Given the description of an element on the screen output the (x, y) to click on. 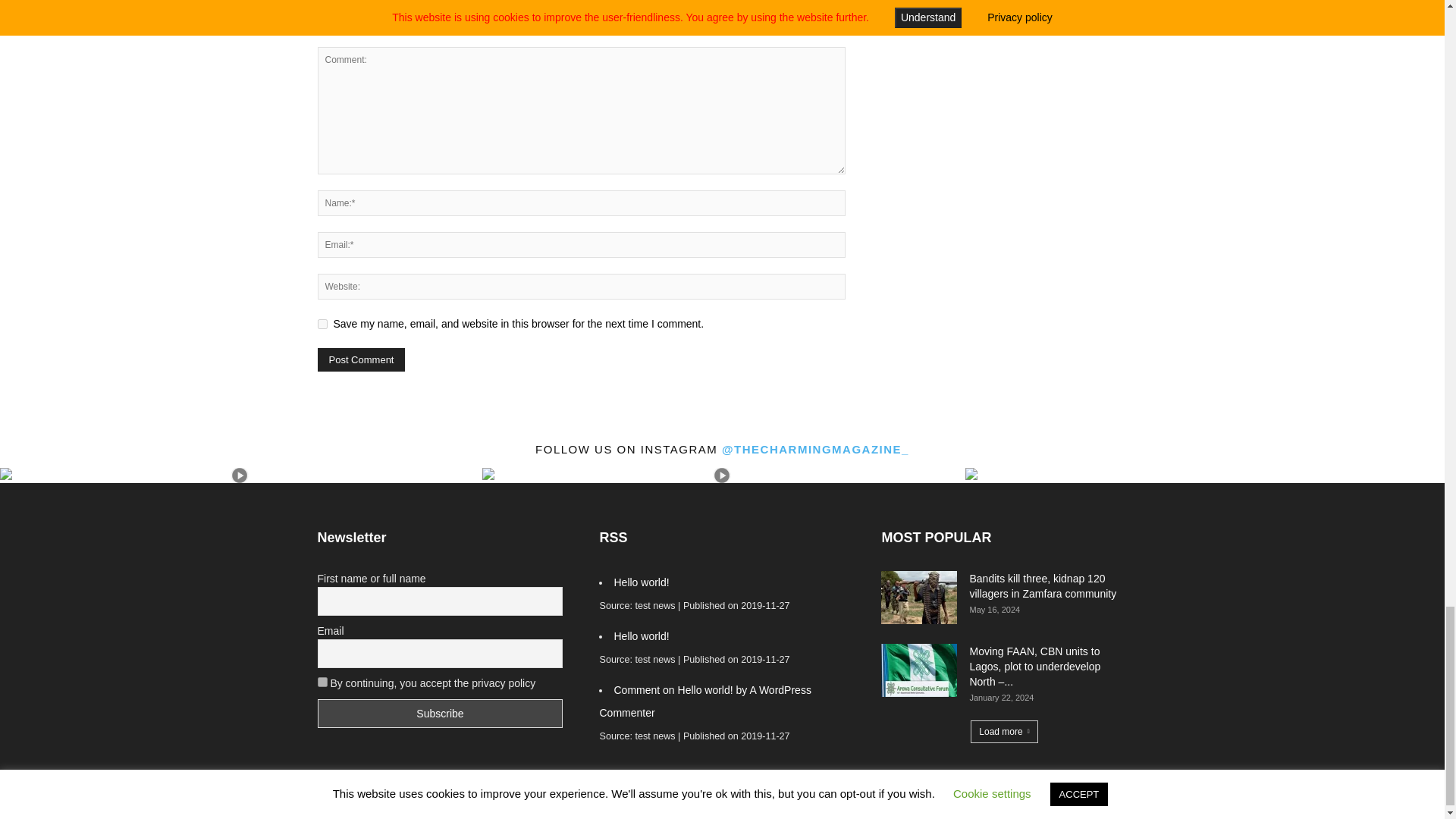
on (321, 682)
yes (321, 324)
Subscribe (439, 713)
Post Comment (360, 359)
